Given the description of an element on the screen output the (x, y) to click on. 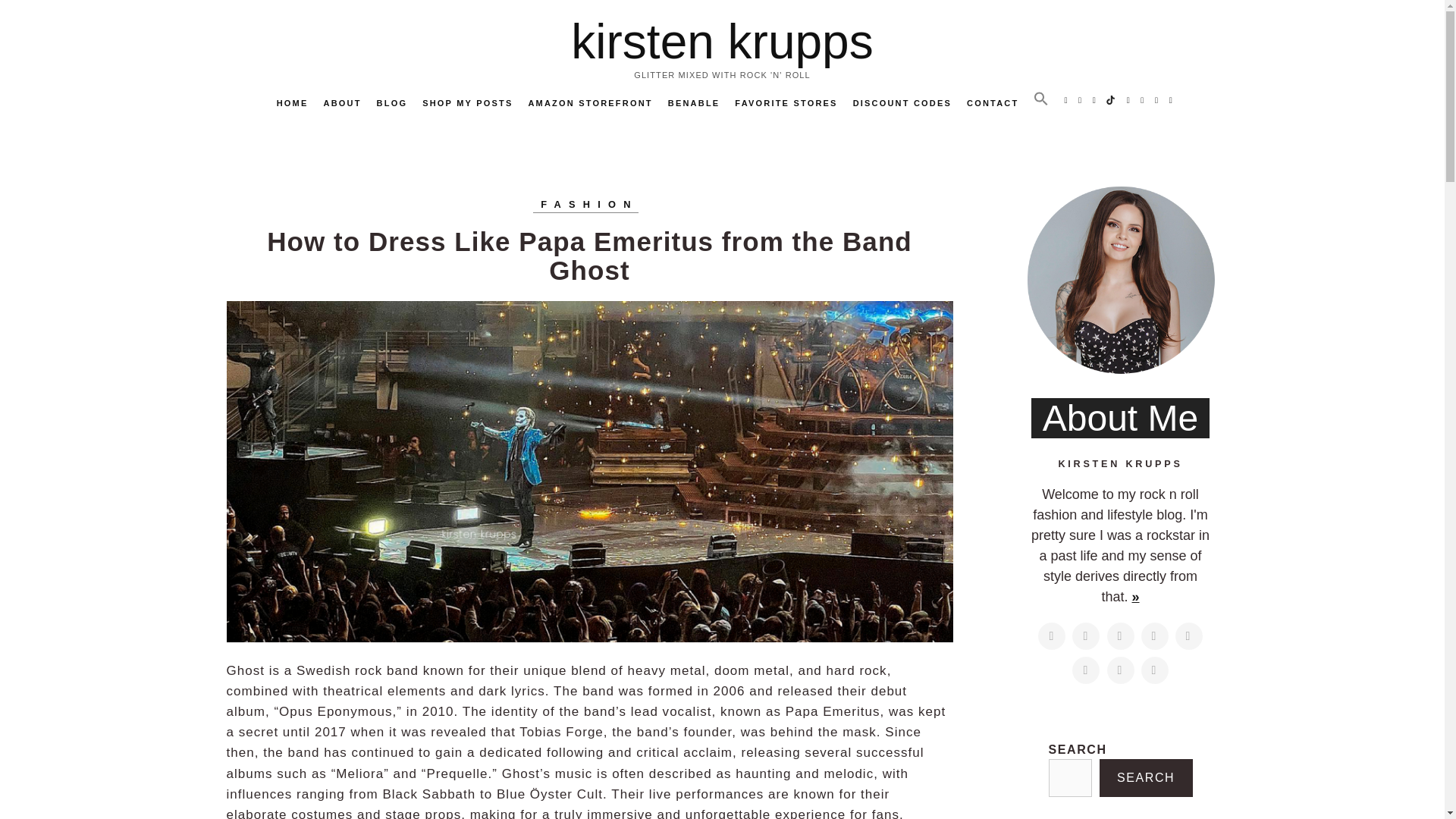
kirsten krupps (721, 41)
BLOG (392, 103)
tiktok icon (1111, 100)
HOME (292, 103)
ABOUT (342, 103)
